Given the description of an element on the screen output the (x, y) to click on. 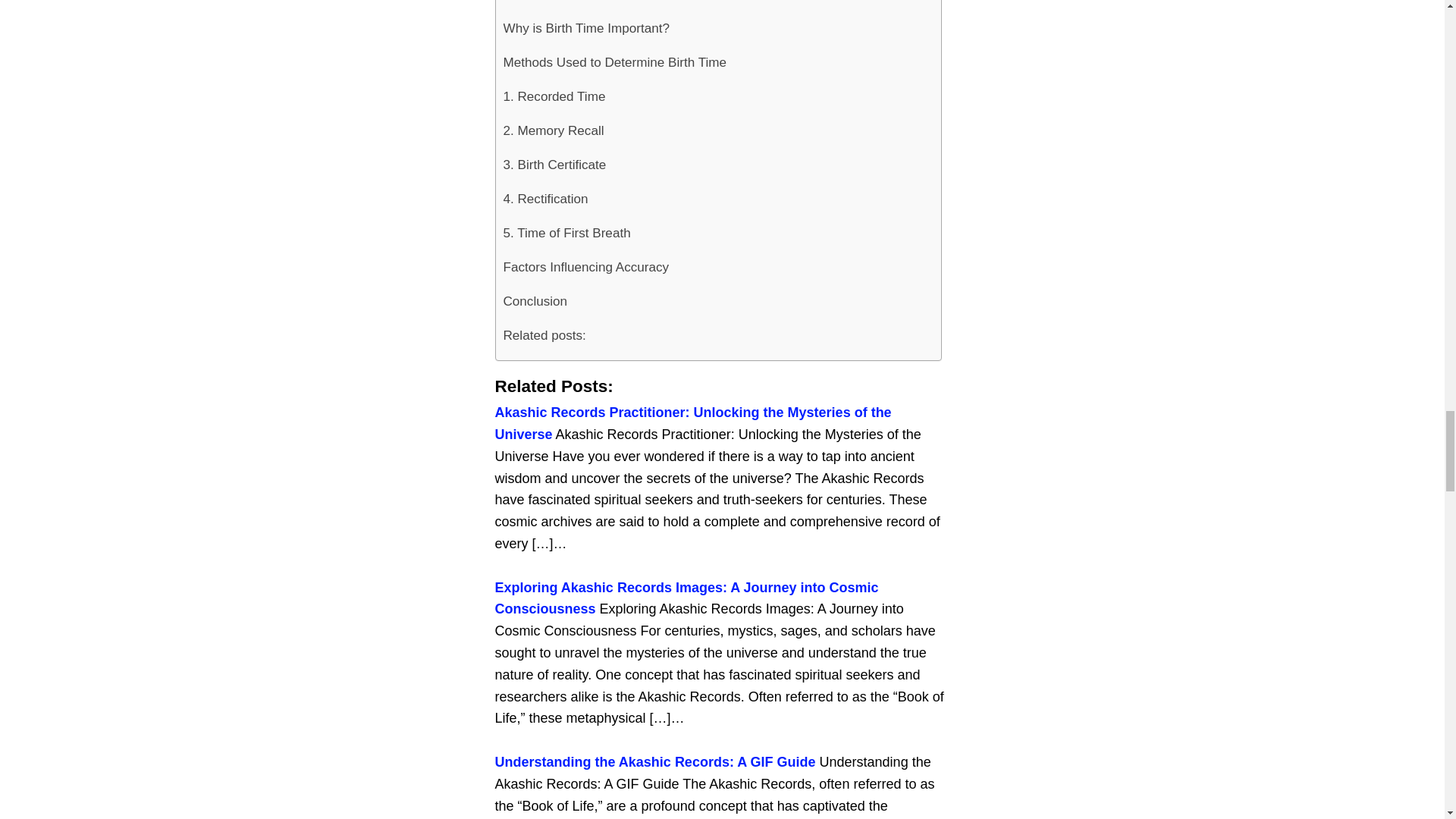
5. Time of First Breath (566, 233)
4. Rectification (545, 198)
5. Time of First Breath (566, 233)
Related posts: (544, 335)
Understanding the Akashic Records: A GIF Guide (655, 761)
Factors Influencing Accuracy (586, 267)
Factors Influencing Accuracy (586, 267)
Methods Used to Determine Birth Time (614, 62)
1. Recorded Time (554, 96)
Conclusion (535, 301)
2. Memory Recall (553, 130)
3. Birth Certificate (555, 164)
Why is Birth Time Important? (586, 28)
